Given the description of an element on the screen output the (x, y) to click on. 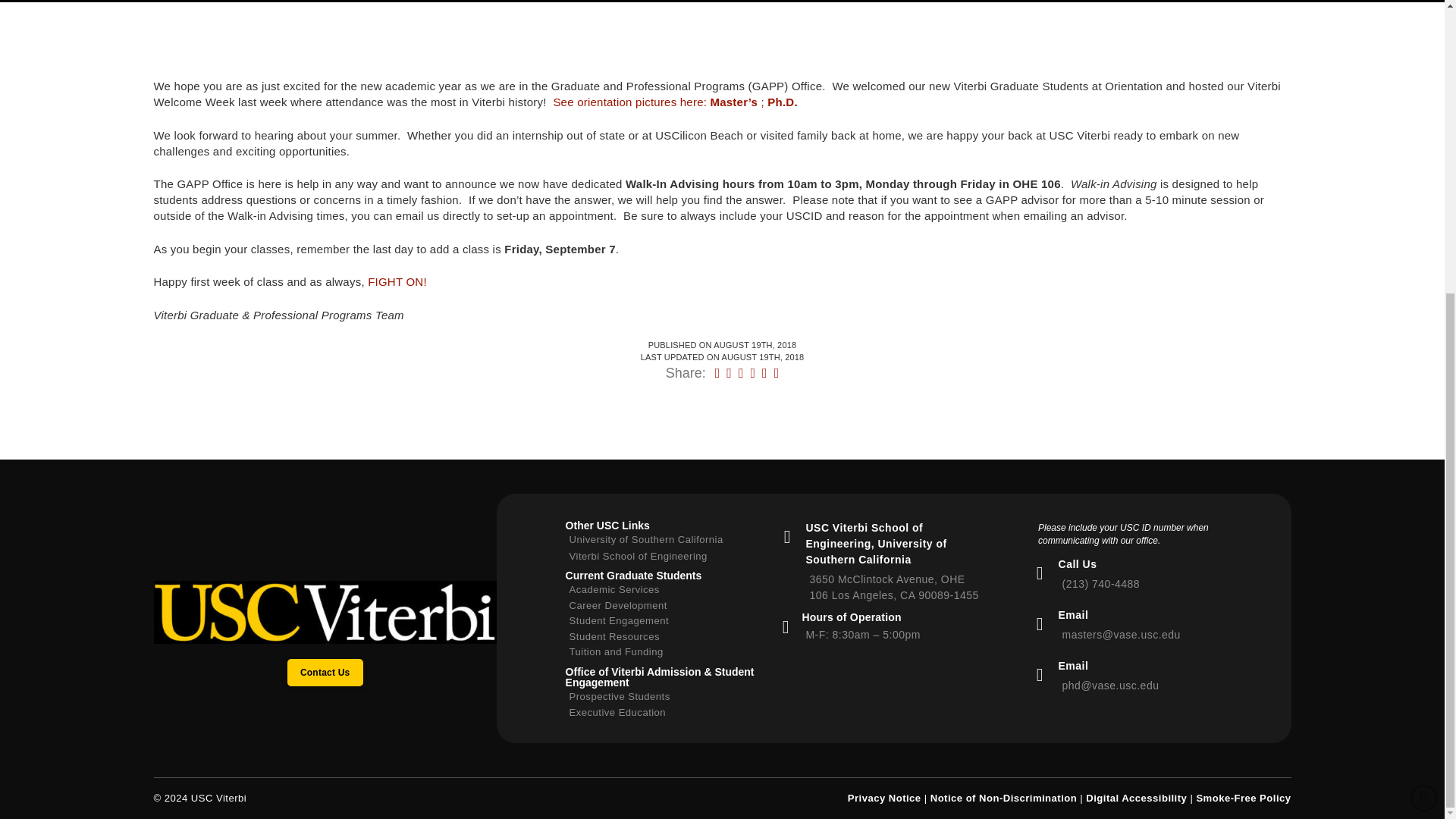
Back to Top (1423, 348)
University of Southern California (660, 542)
Ph.D.  (783, 101)
Contact Us (324, 672)
